Given the description of an element on the screen output the (x, y) to click on. 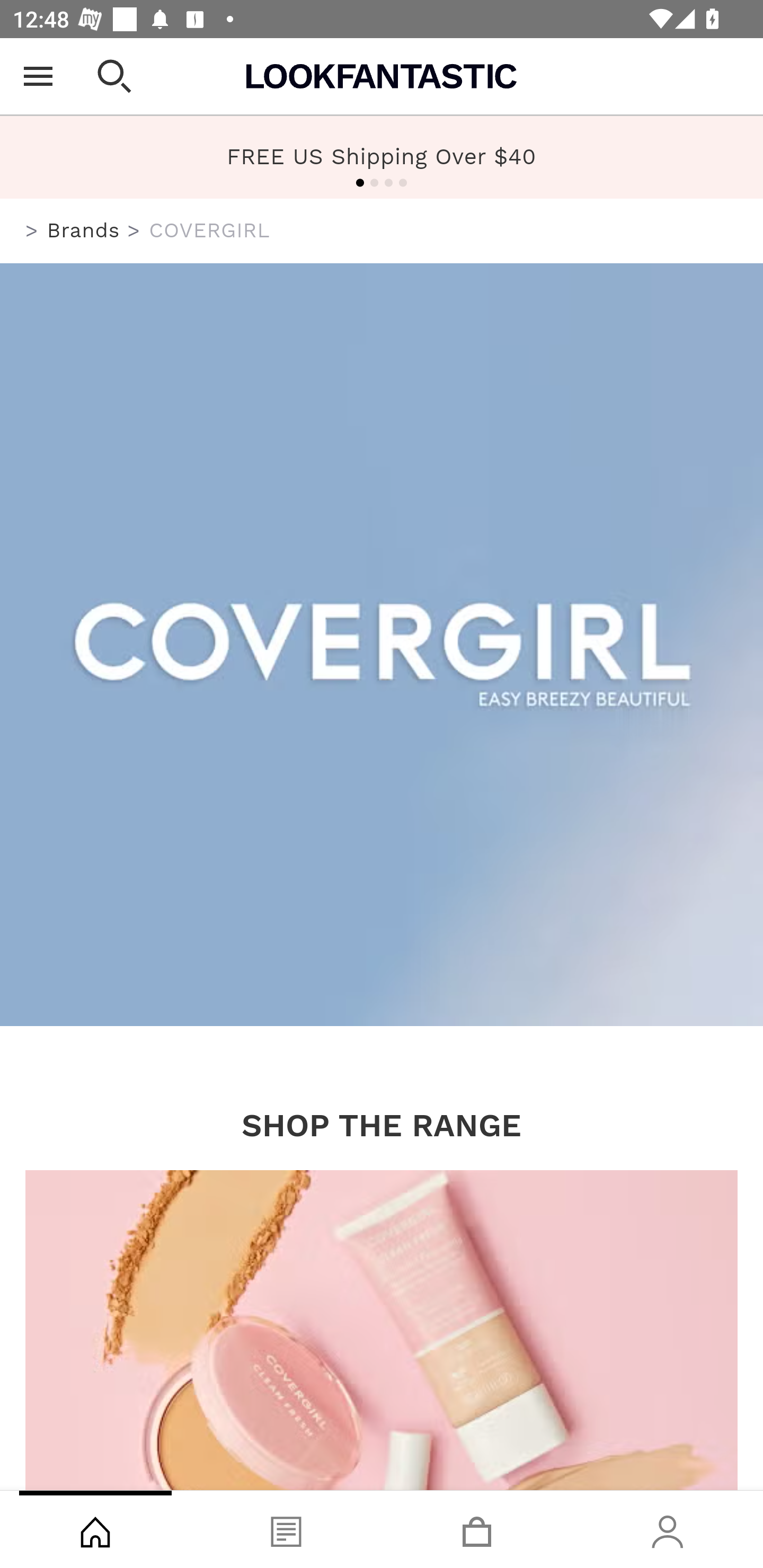
Open Menu (38, 75)
Open search (114, 75)
Lookfantastic USA (381, 75)
FREE US Shipping Over $40 (381, 157)
FREE US Shipping Over $40 (381, 155)
us.lookfantastic (32, 230)
Brands (82, 230)
Covergirl (381, 646)
Shop, tab, 1 of 4 (95, 1529)
Blog, tab, 2 of 4 (285, 1529)
Basket, tab, 3 of 4 (476, 1529)
Account, tab, 4 of 4 (667, 1529)
